Given the description of an element on the screen output the (x, y) to click on. 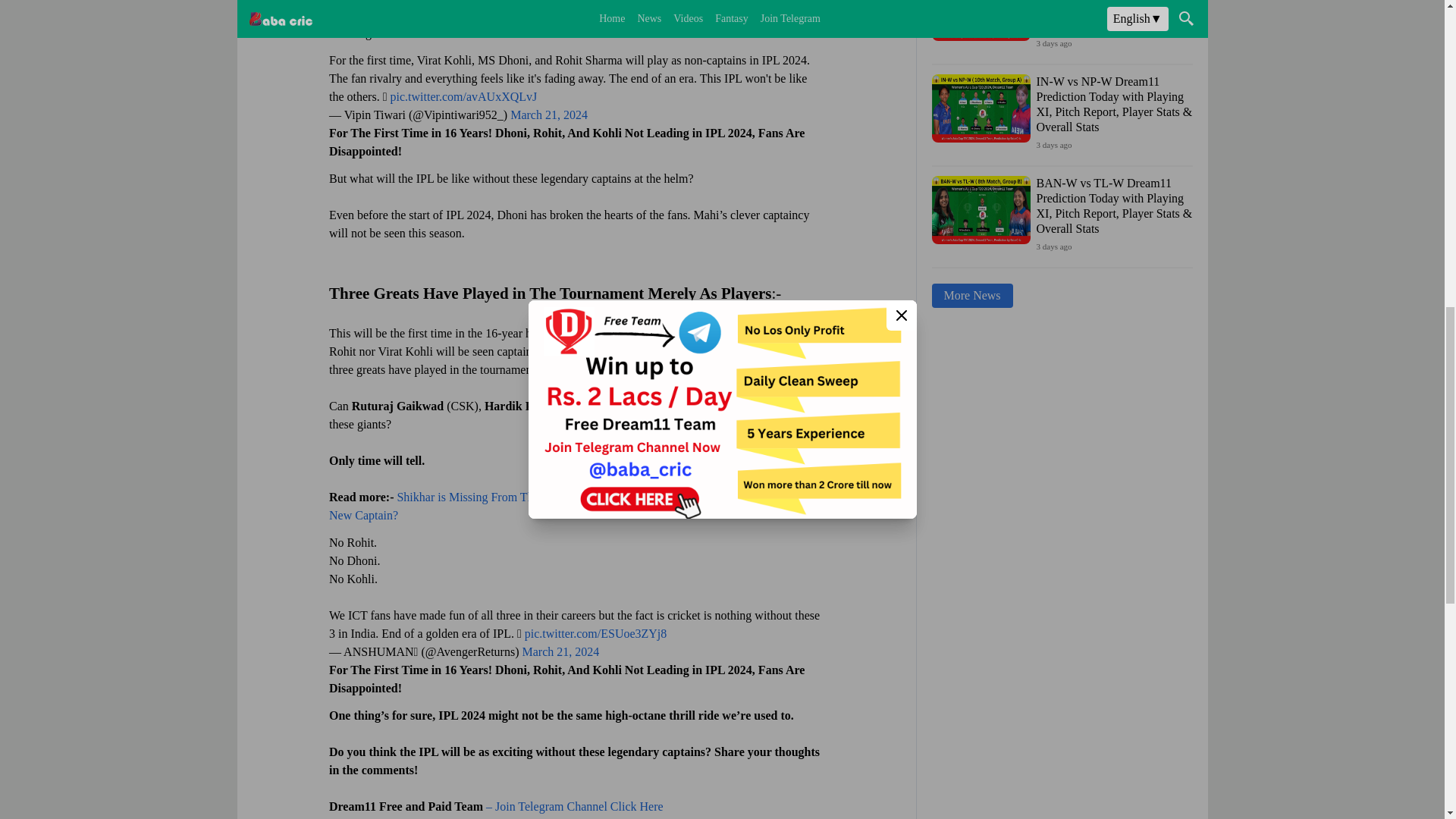
More News (971, 295)
March 21, 2024 (549, 114)
More News (971, 295)
March 21, 2024 (559, 650)
